Given the description of an element on the screen output the (x, y) to click on. 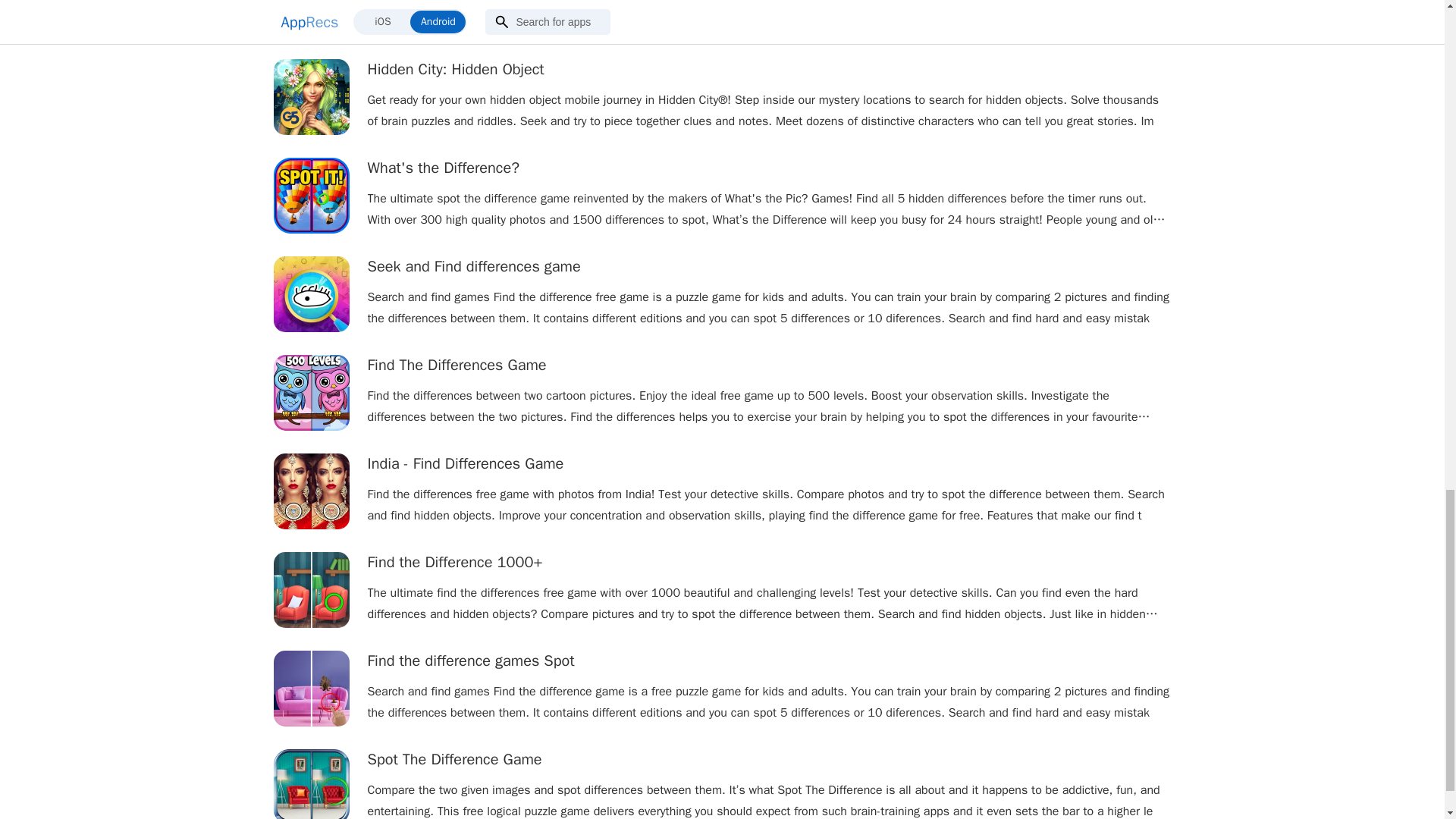
Find the difference games Spot icon (311, 688)
Hidden City: Hidden Object icon (311, 96)
What's the Difference? icon (311, 195)
Find The Differences Game icon (311, 392)
India - Find Differences Game icon (311, 491)
Seek and Find differences game icon (311, 294)
